Given the description of an element on the screen output the (x, y) to click on. 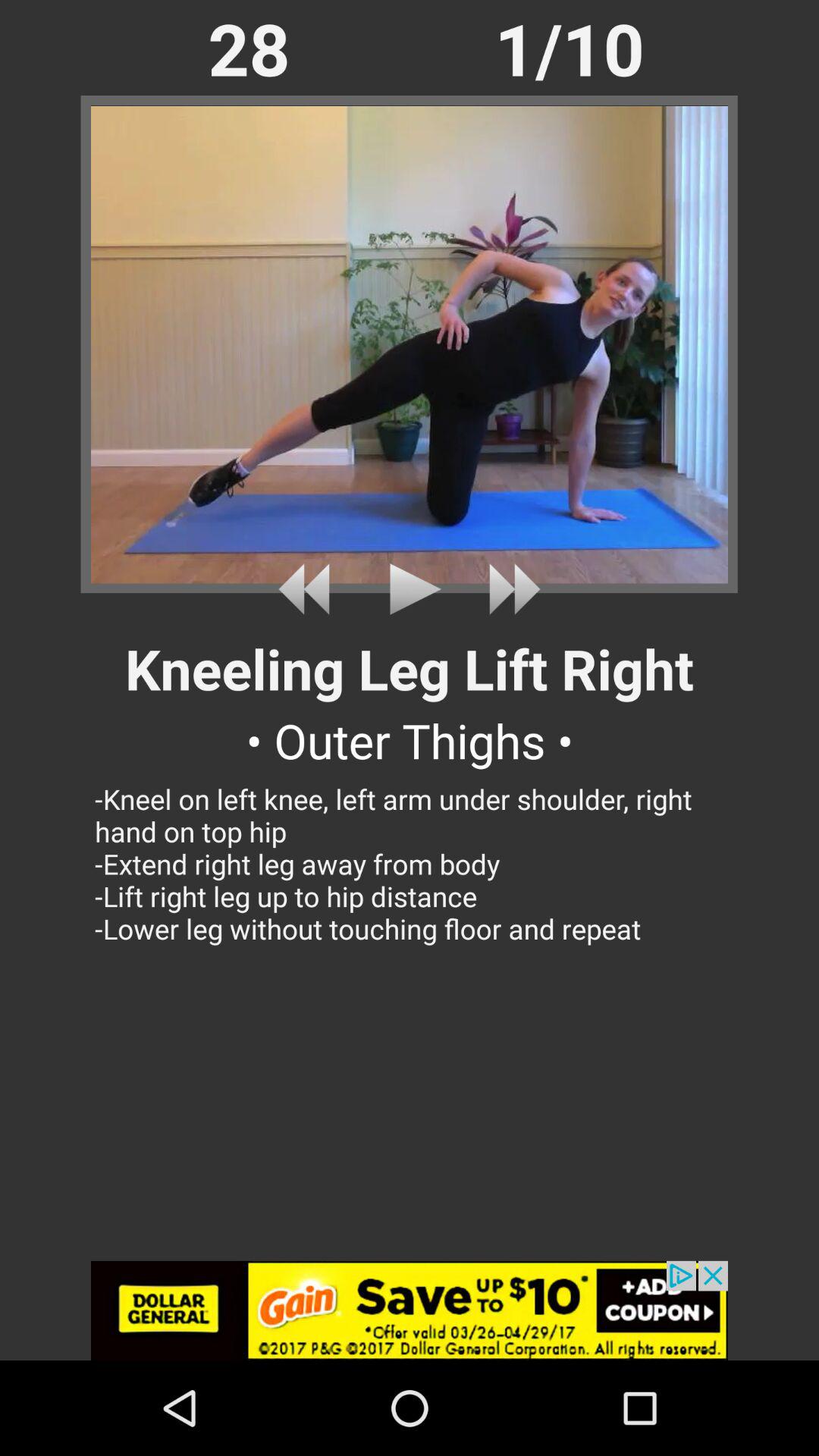
click the add (409, 1310)
